Given the description of an element on the screen output the (x, y) to click on. 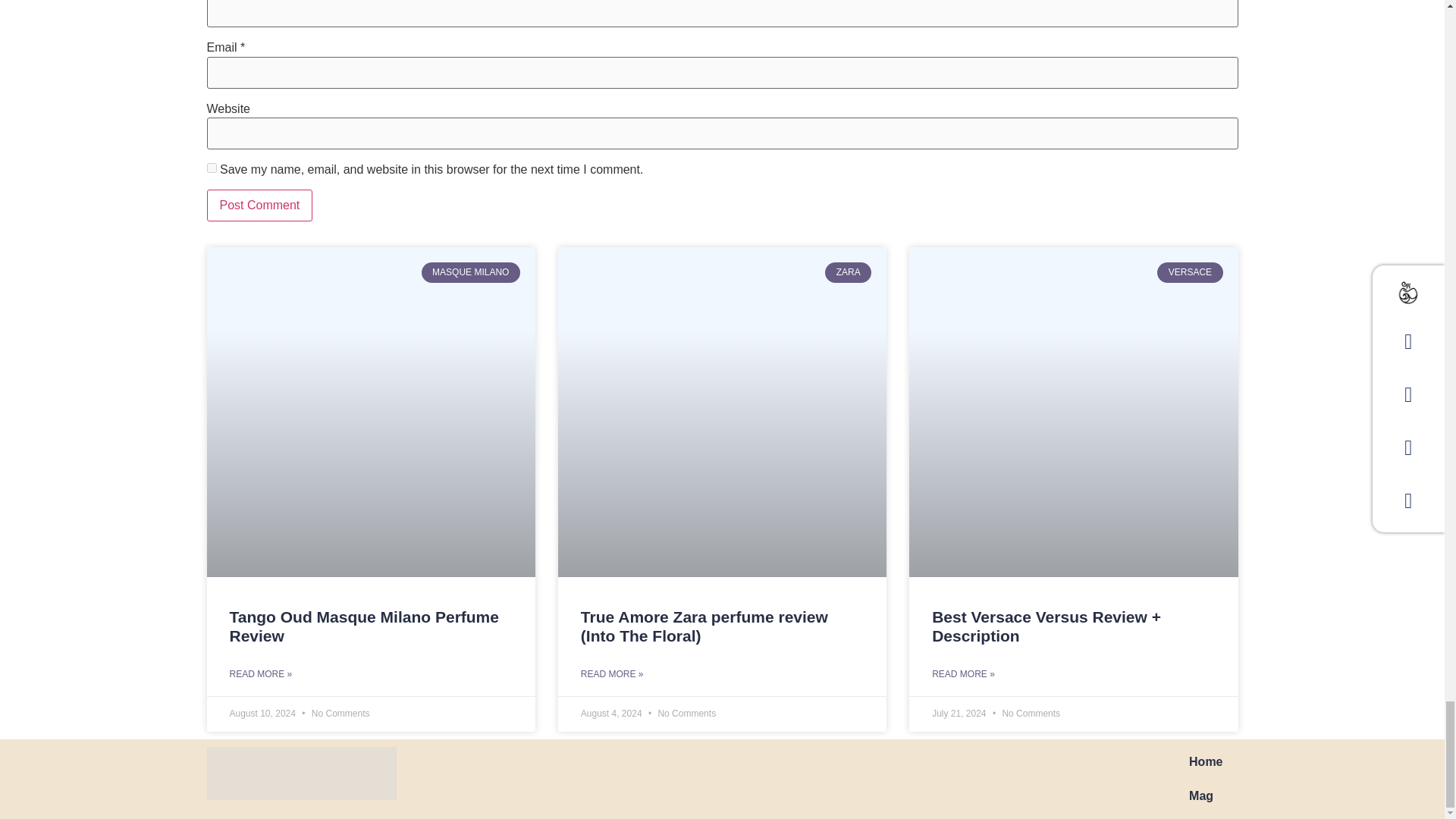
Post Comment (259, 205)
Post Comment (259, 205)
yes (210, 167)
Tango Oud Masque Milano Perfume Review (362, 626)
